Given the description of an element on the screen output the (x, y) to click on. 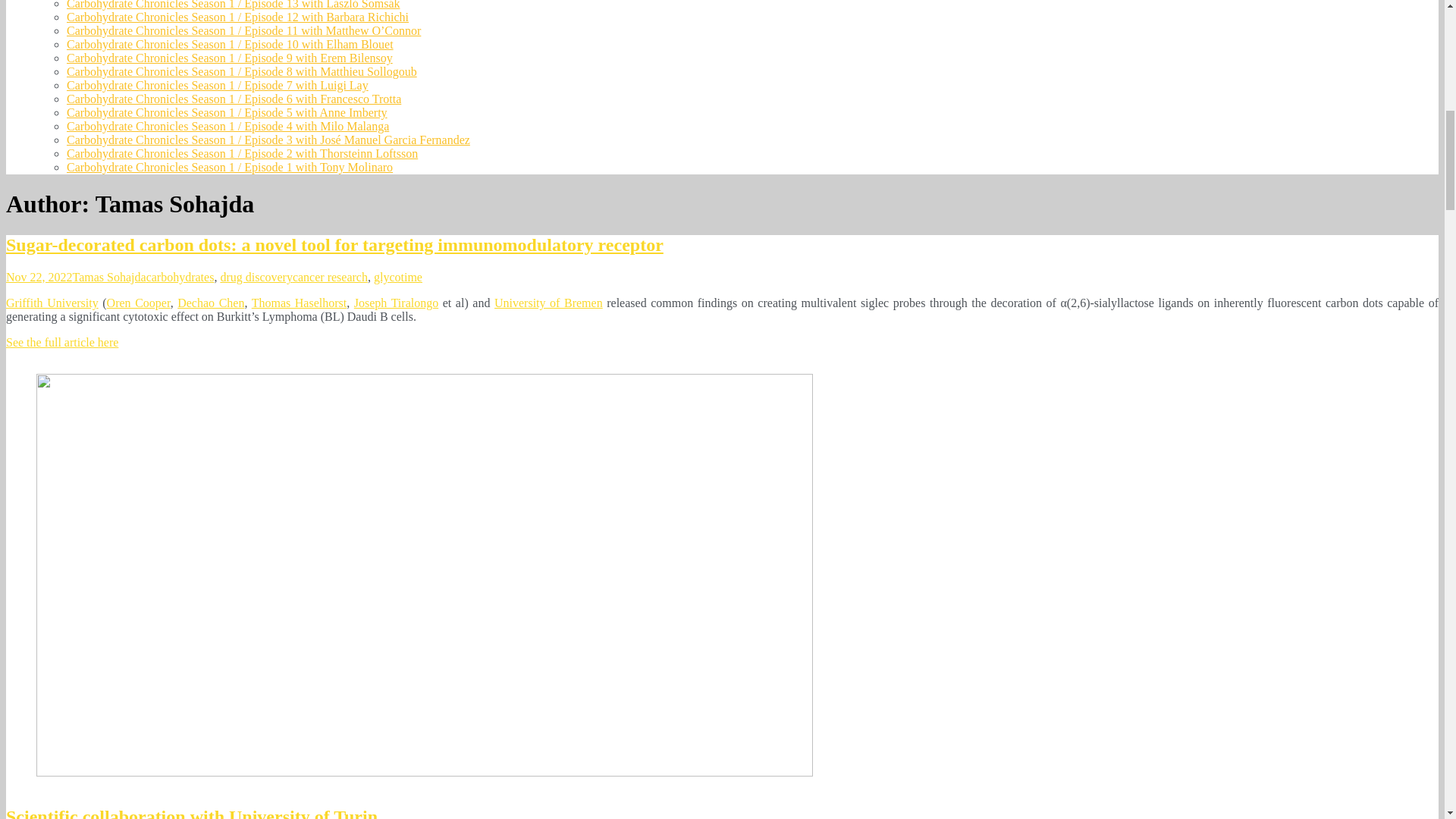
View all posts by Tamas Sohajda (109, 277)
